Given the description of an element on the screen output the (x, y) to click on. 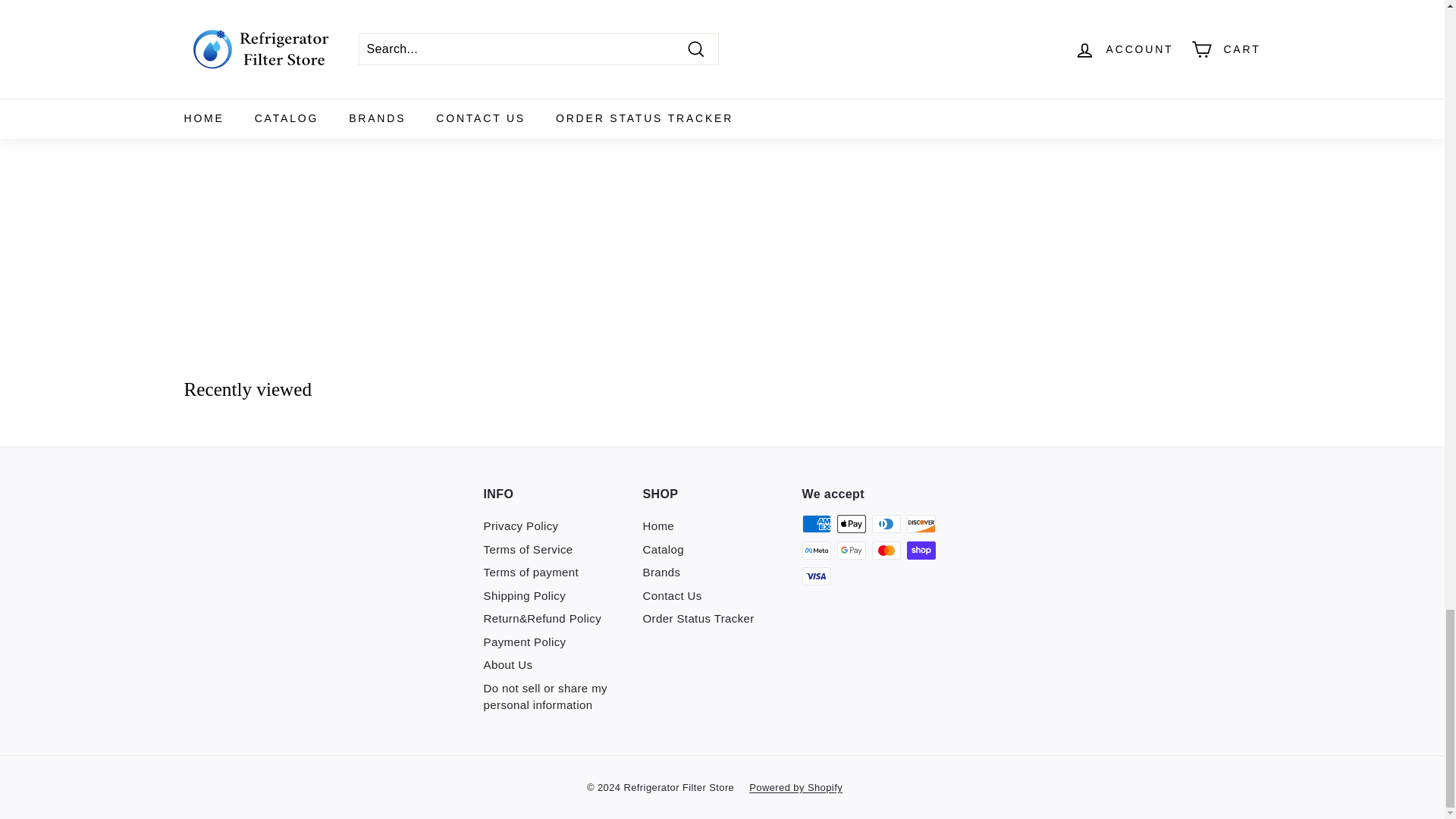
Electrolux (312, 4)
American Express (816, 524)
